Given the description of an element on the screen output the (x, y) to click on. 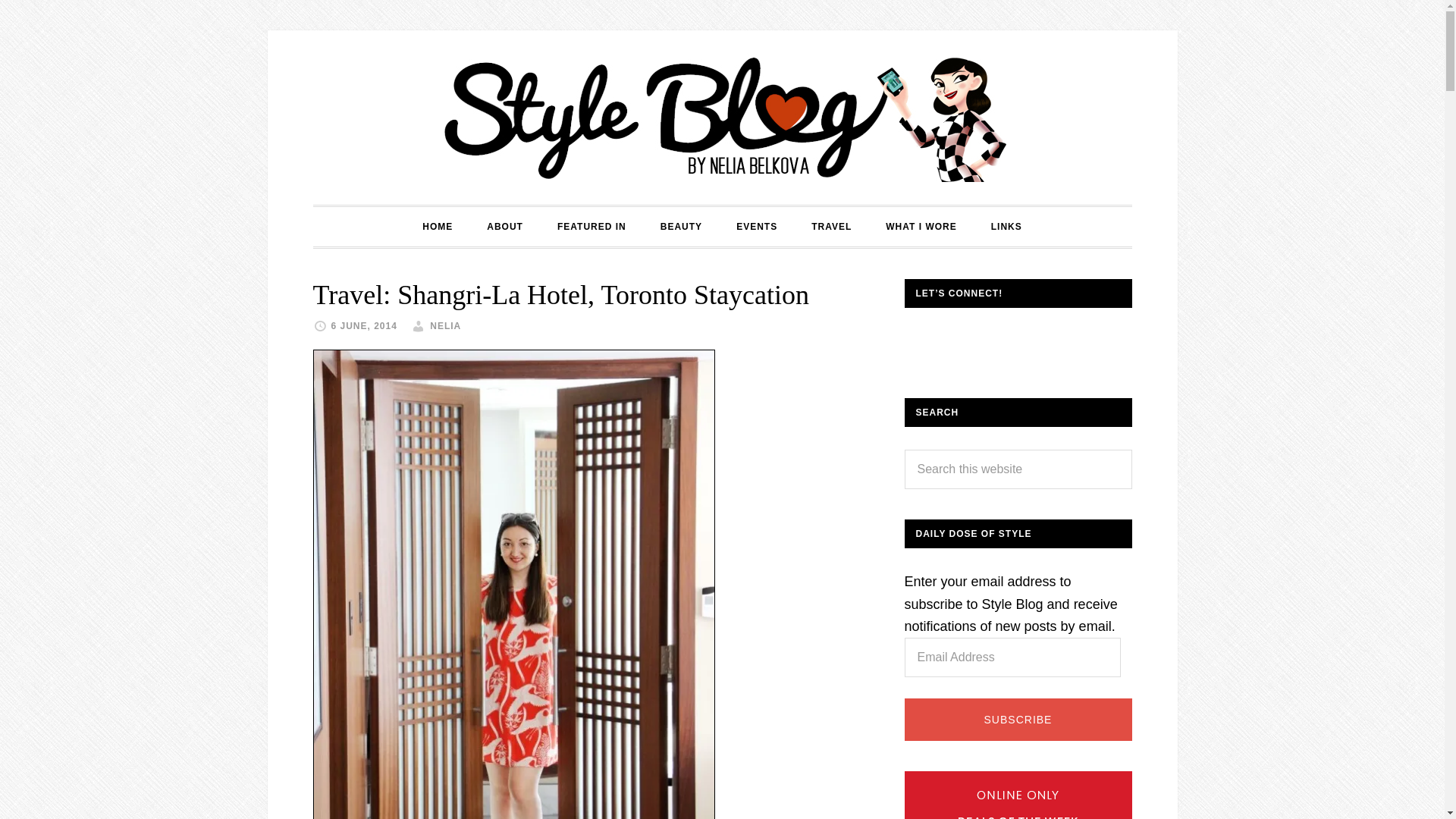
NELIA (445, 326)
FEATURED IN (591, 226)
HOME (437, 226)
LINKS (1005, 226)
TRAVEL (831, 226)
BEAUTY (681, 226)
EVENTS (756, 226)
Travel: Shangri-La Hotel, Toronto Staycation (560, 295)
SUBSCRIBE (1017, 719)
WHAT I WORE (920, 226)
ABOUT (504, 226)
